Given the description of an element on the screen output the (x, y) to click on. 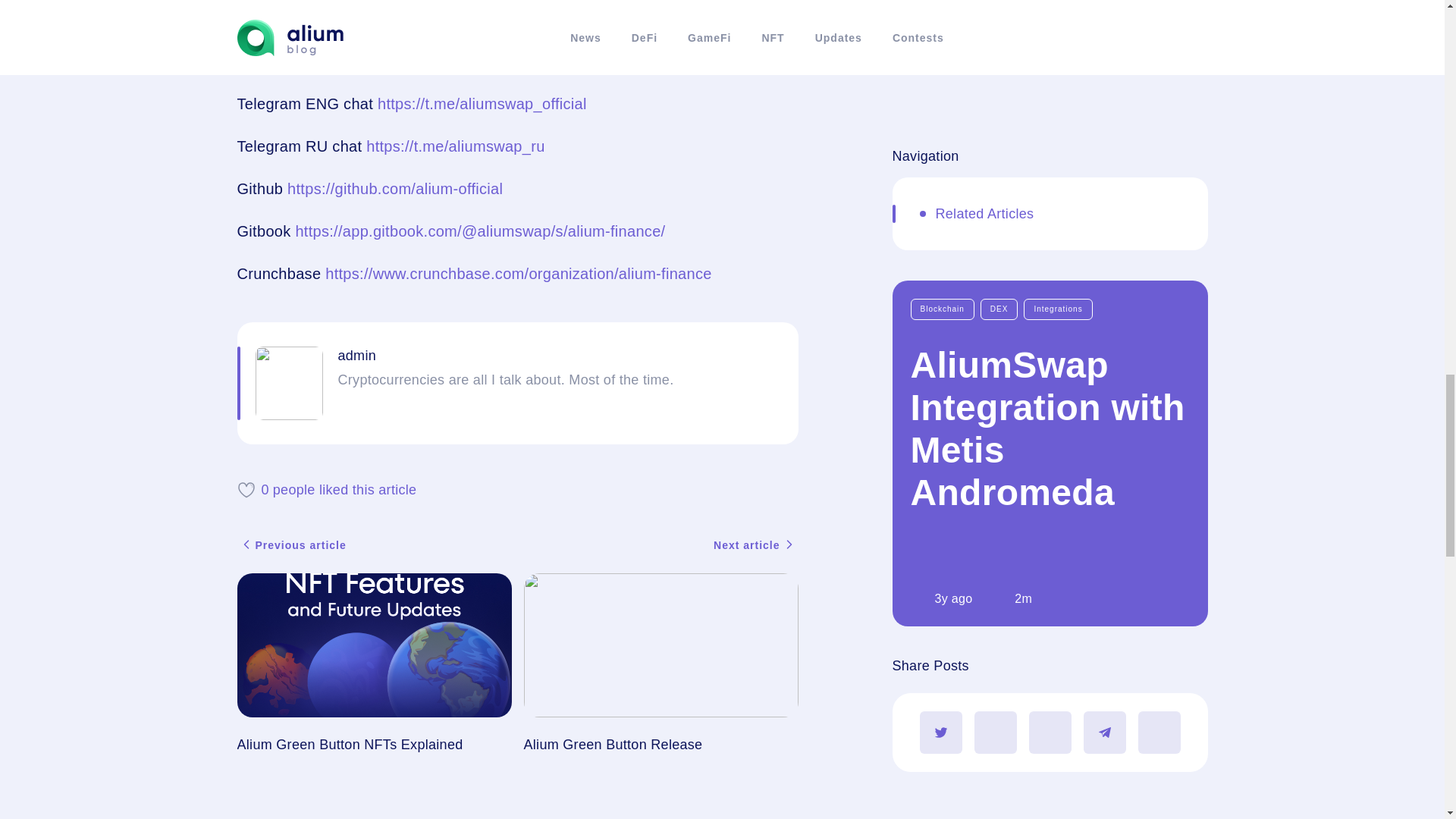
Next article (755, 545)
Previous article (290, 545)
Alium Green Button Release (659, 663)
Alium Green Button NFTs Explained (373, 663)
